Given the description of an element on the screen output the (x, y) to click on. 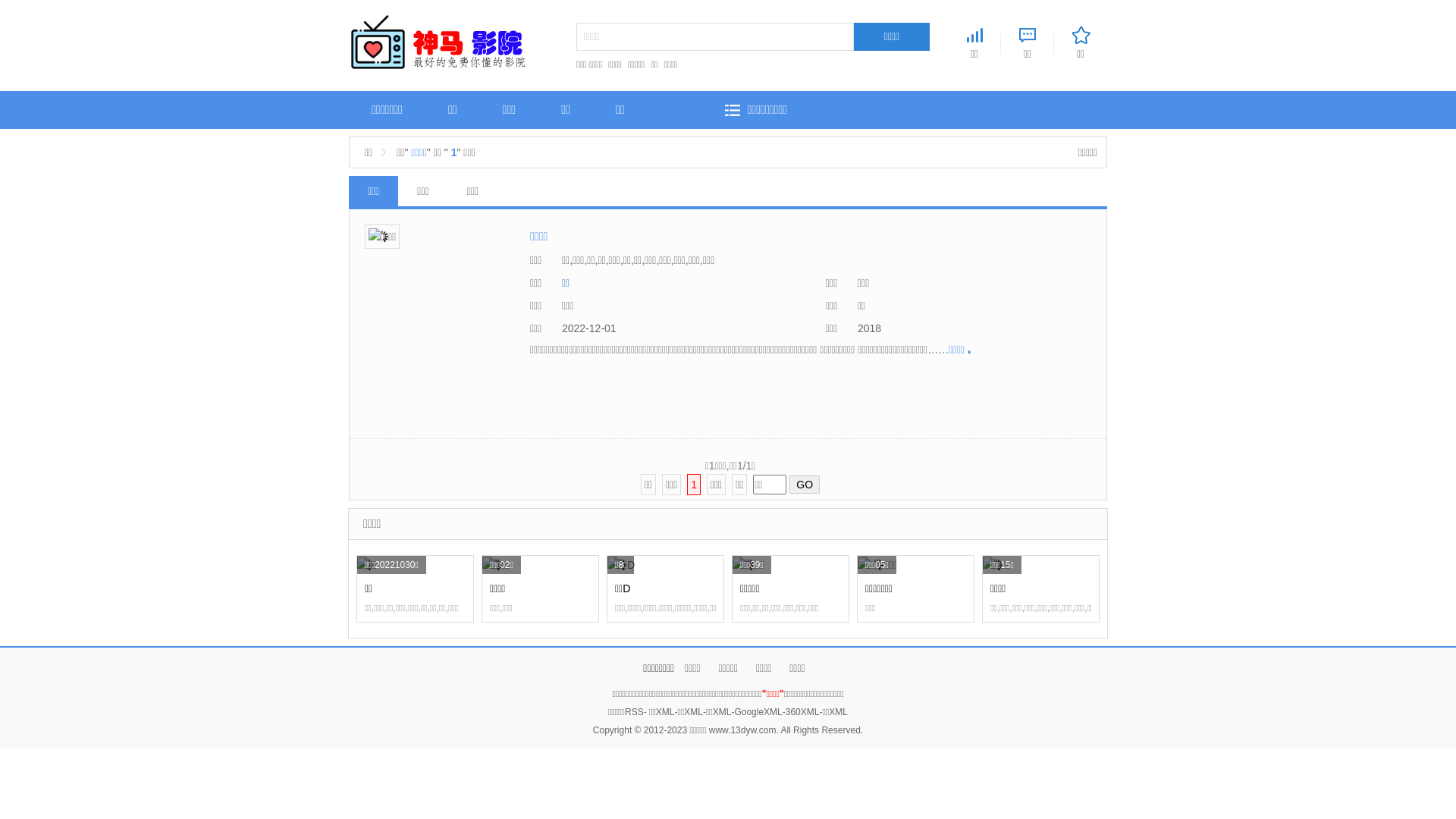
RSS Element type: text (633, 711)
www.13dyw.com Element type: text (742, 729)
GoogleXML Element type: text (757, 711)
360XML Element type: text (802, 711)
GO Element type: text (804, 484)
1 Element type: text (693, 484)
